Given the description of an element on the screen output the (x, y) to click on. 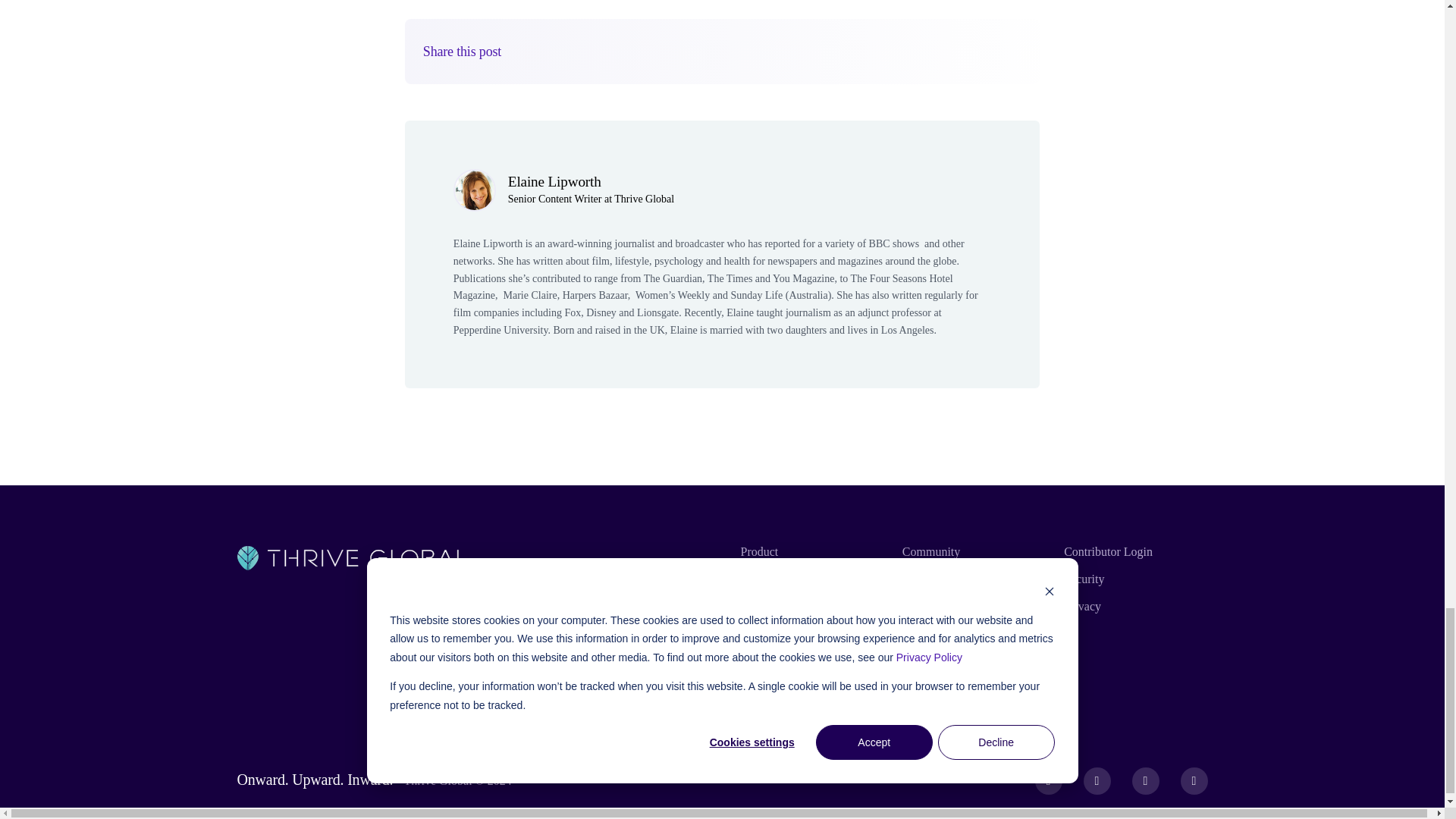
Elaine Lipworth (554, 181)
